Given the description of an element on the screen output the (x, y) to click on. 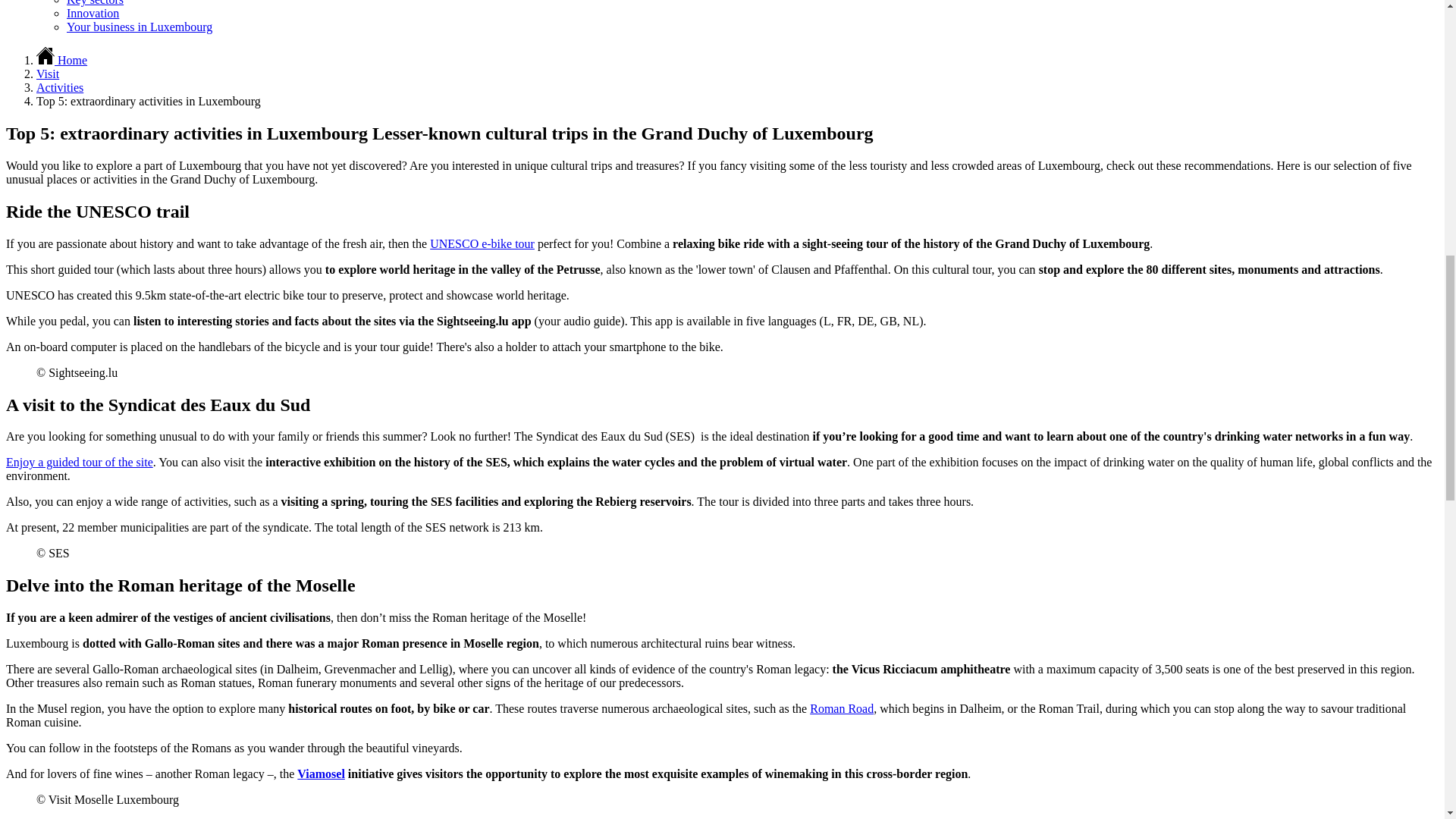
The Roman Road on Visitmoselle.lu - New window (841, 707)
Viamosel - New window (321, 773)
The trail on Sightseeing.lu - New window (481, 243)
